Given the description of an element on the screen output the (x, y) to click on. 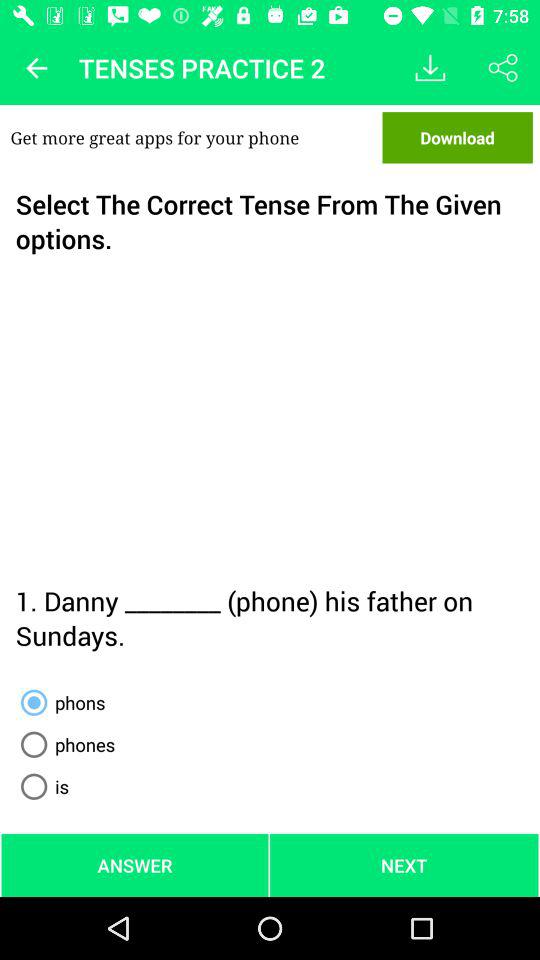
open icon next to tenses practice 2 app (36, 68)
